Given the description of an element on the screen output the (x, y) to click on. 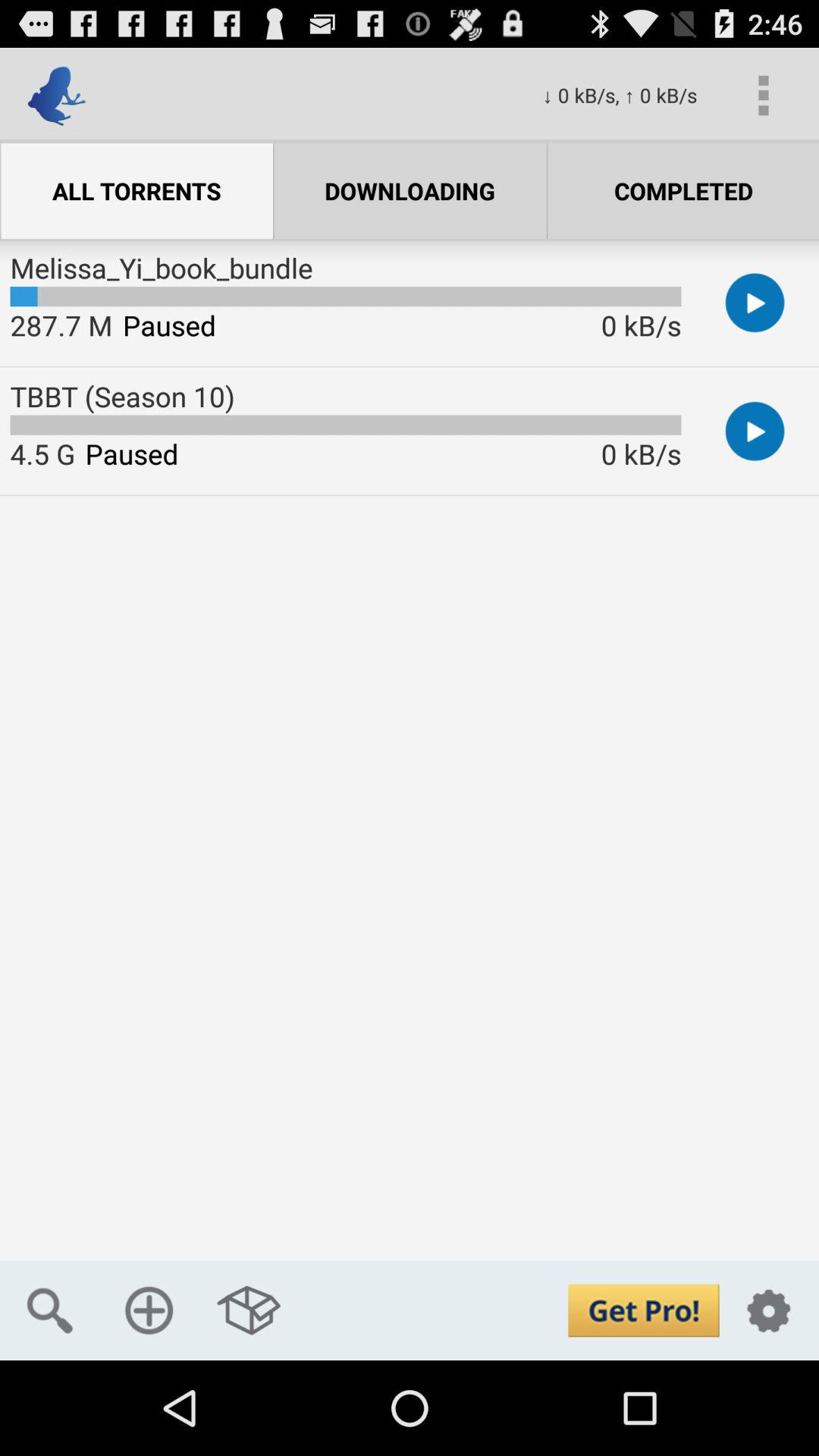
turn on item above the tbbt (season 10) app (61, 325)
